Given the description of an element on the screen output the (x, y) to click on. 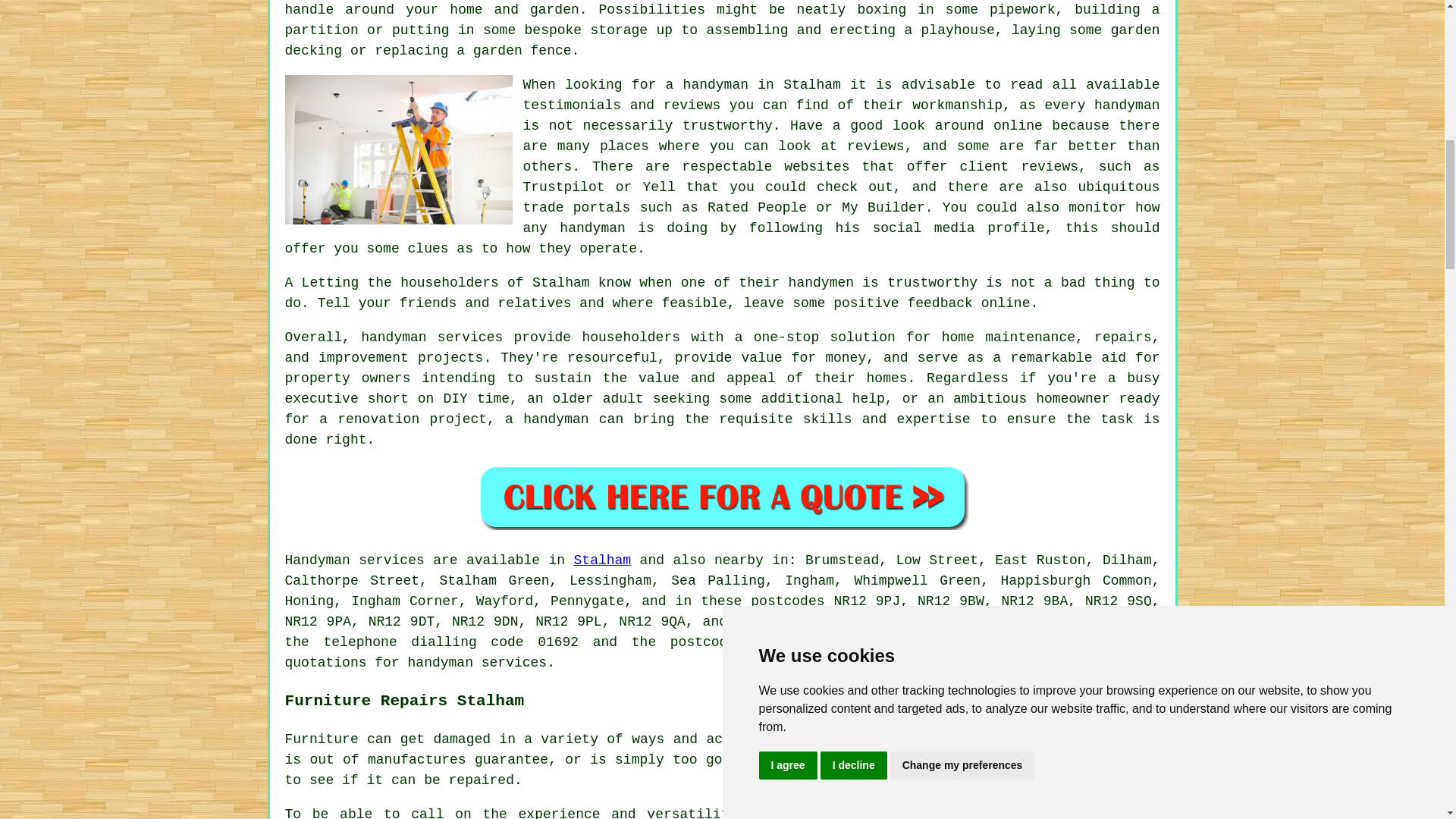
handymen (968, 621)
handyman services (431, 337)
handyman (715, 84)
your local handyman (1080, 759)
Handyman services (355, 560)
handyman (440, 662)
